Given the description of an element on the screen output the (x, y) to click on. 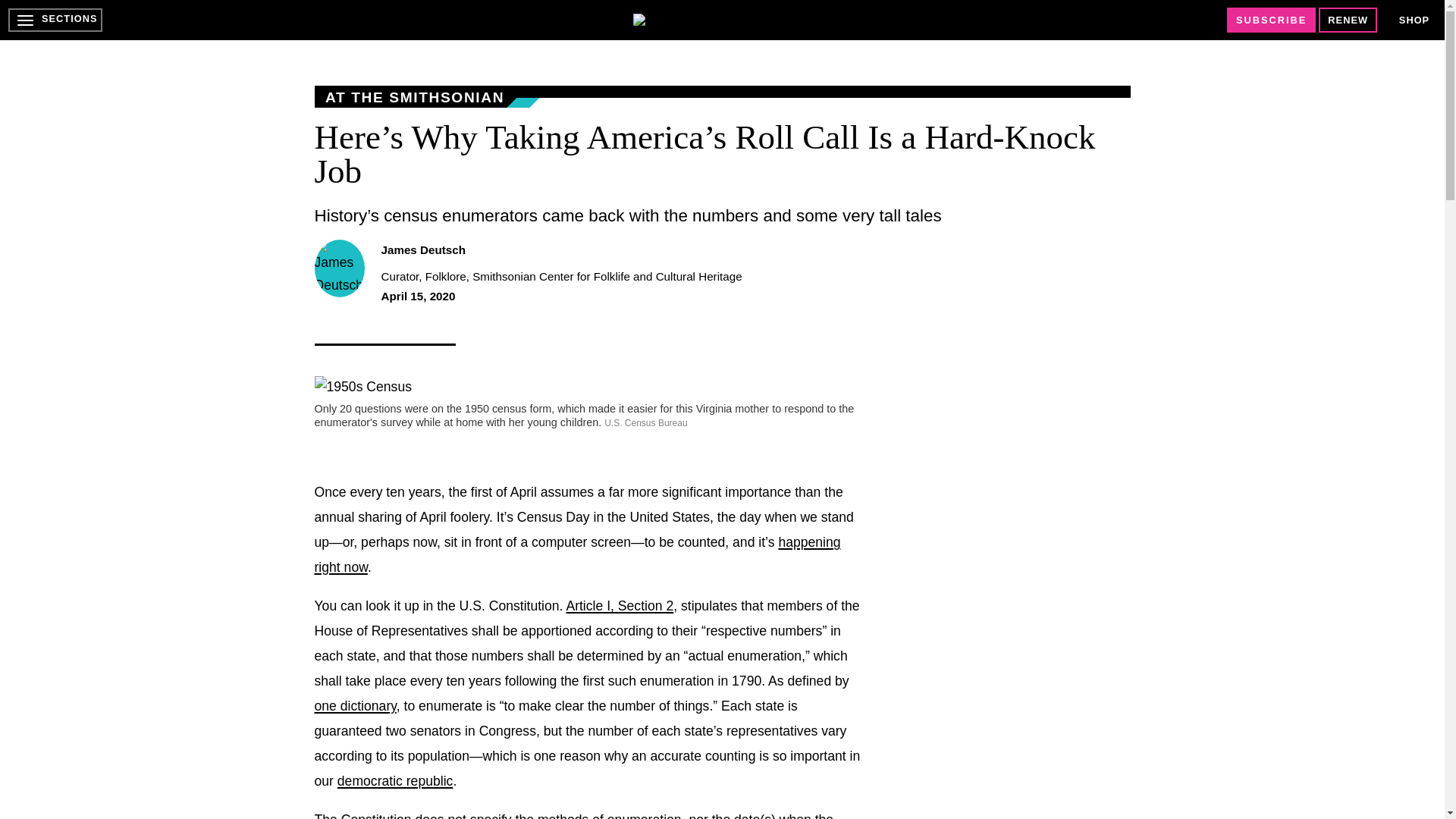
RENEW (1347, 19)
SUBSCRIBE (1271, 19)
SECTIONS (55, 19)
SHOP (1413, 19)
RENEW (1348, 19)
SHOP (1414, 19)
SUBSCRIBE (1271, 19)
